Given the description of an element on the screen output the (x, y) to click on. 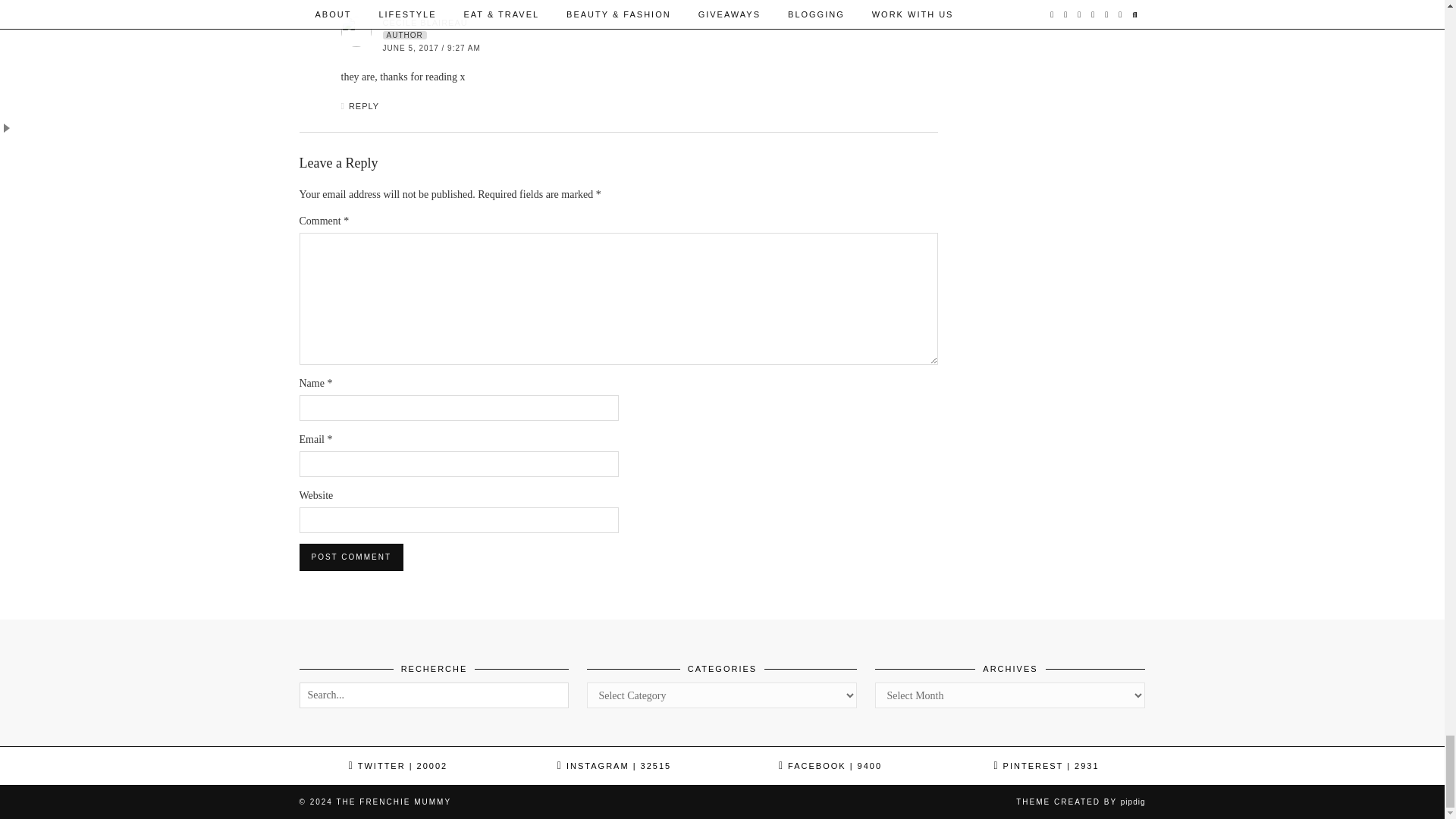
Post Comment (350, 556)
